Given the description of an element on the screen output the (x, y) to click on. 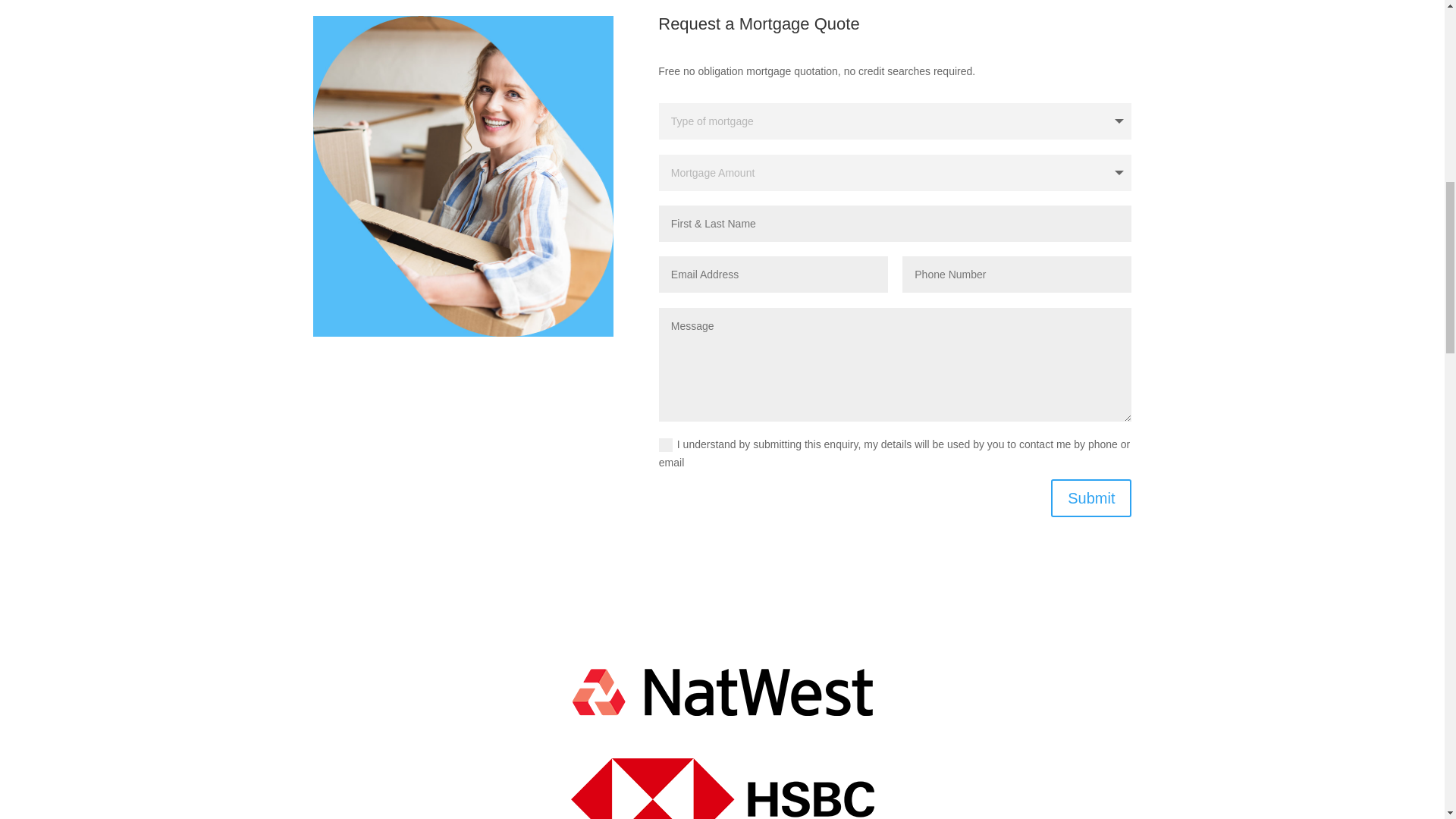
QUICK MORTGAGE QUOTE (462, 175)
Submit (1091, 497)
Only numbers allowed. (1016, 274)
